Given the description of an element on the screen output the (x, y) to click on. 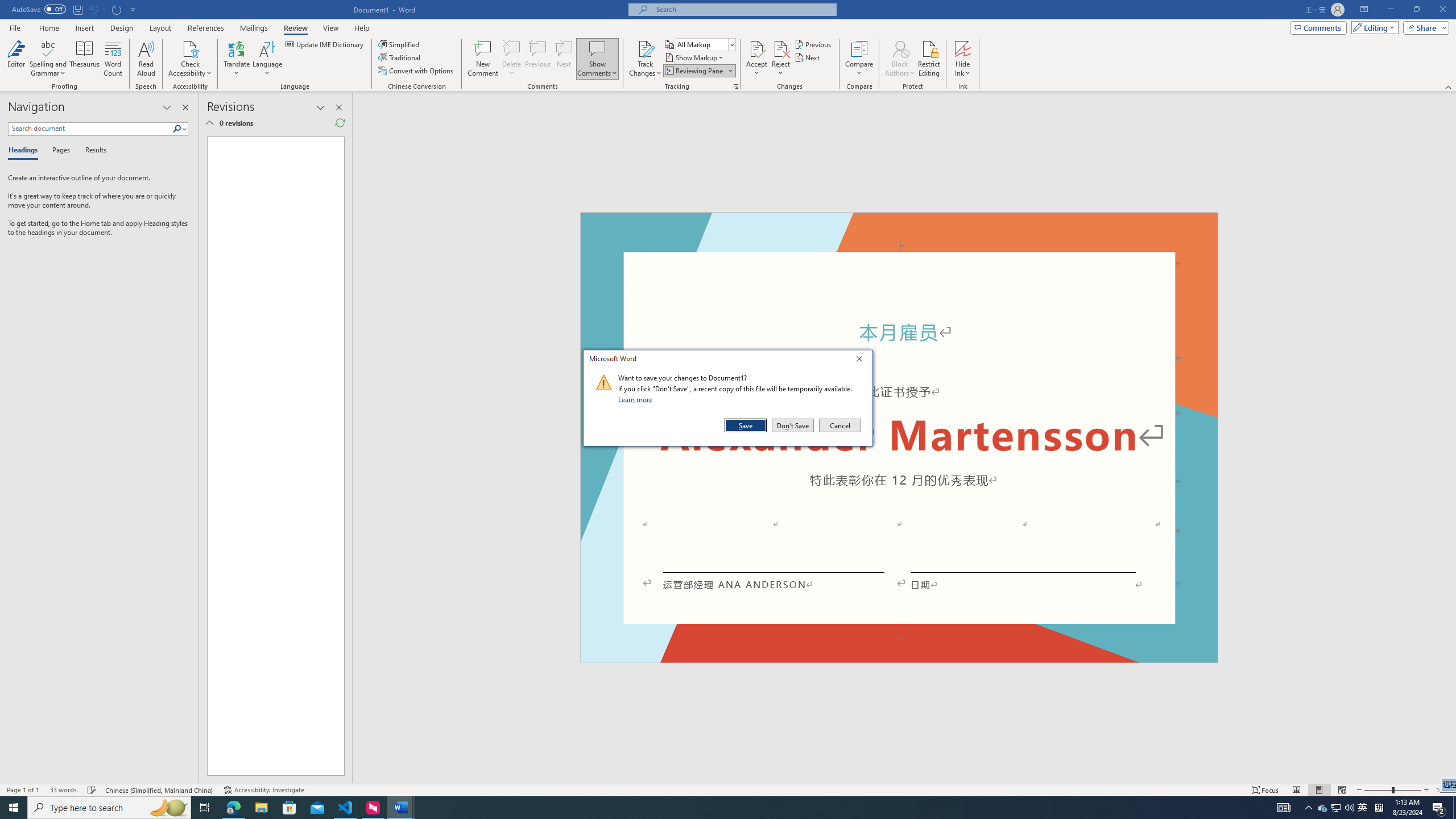
Page Number Page 1 of 1 (22, 790)
Reviewing Pane (694, 69)
Restrict Editing (929, 58)
Block Authors (900, 48)
